Given the description of an element on the screen output the (x, y) to click on. 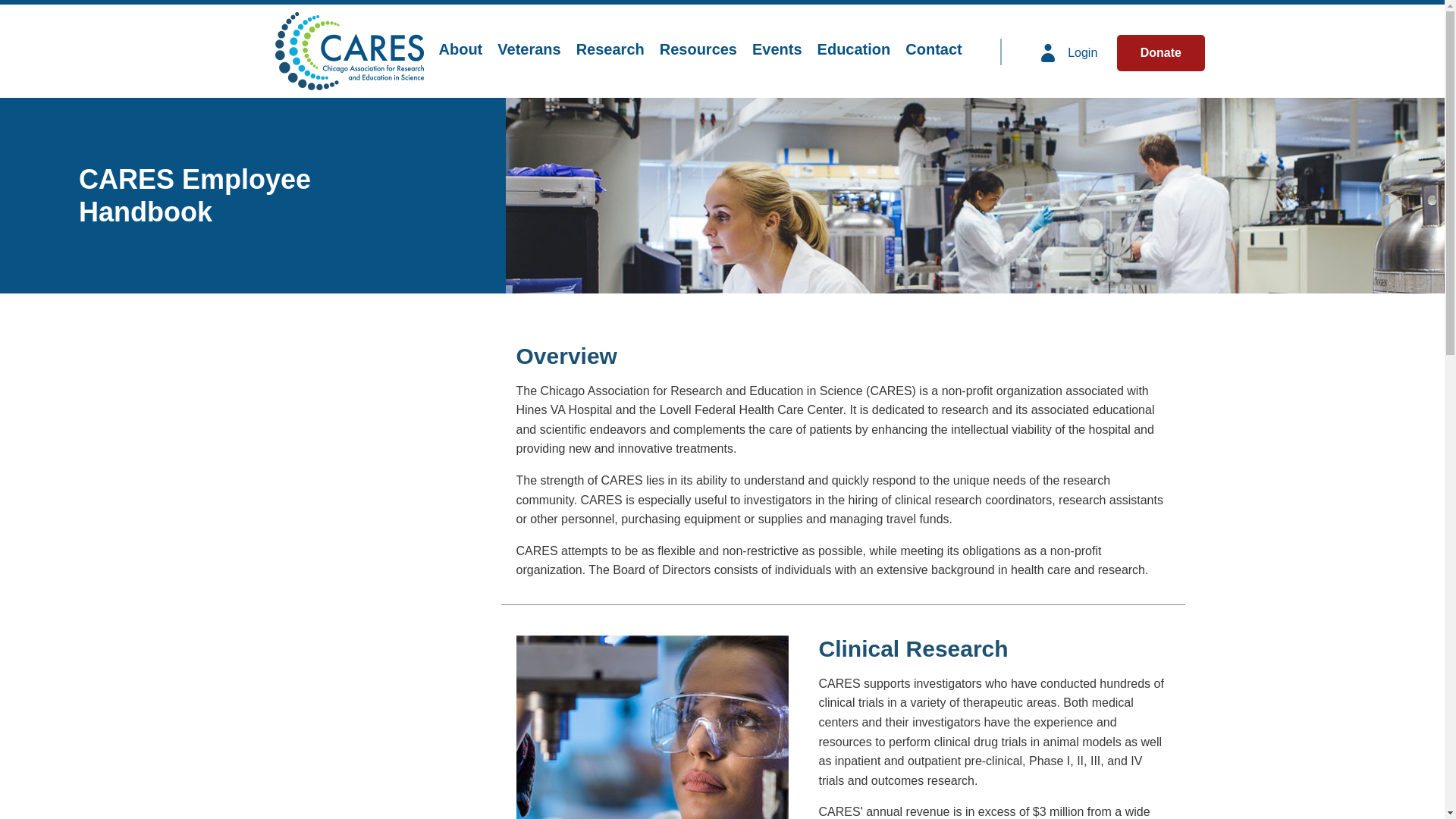
Veterans (528, 50)
Research (610, 50)
About (459, 50)
Resources (698, 50)
